Given the description of an element on the screen output the (x, y) to click on. 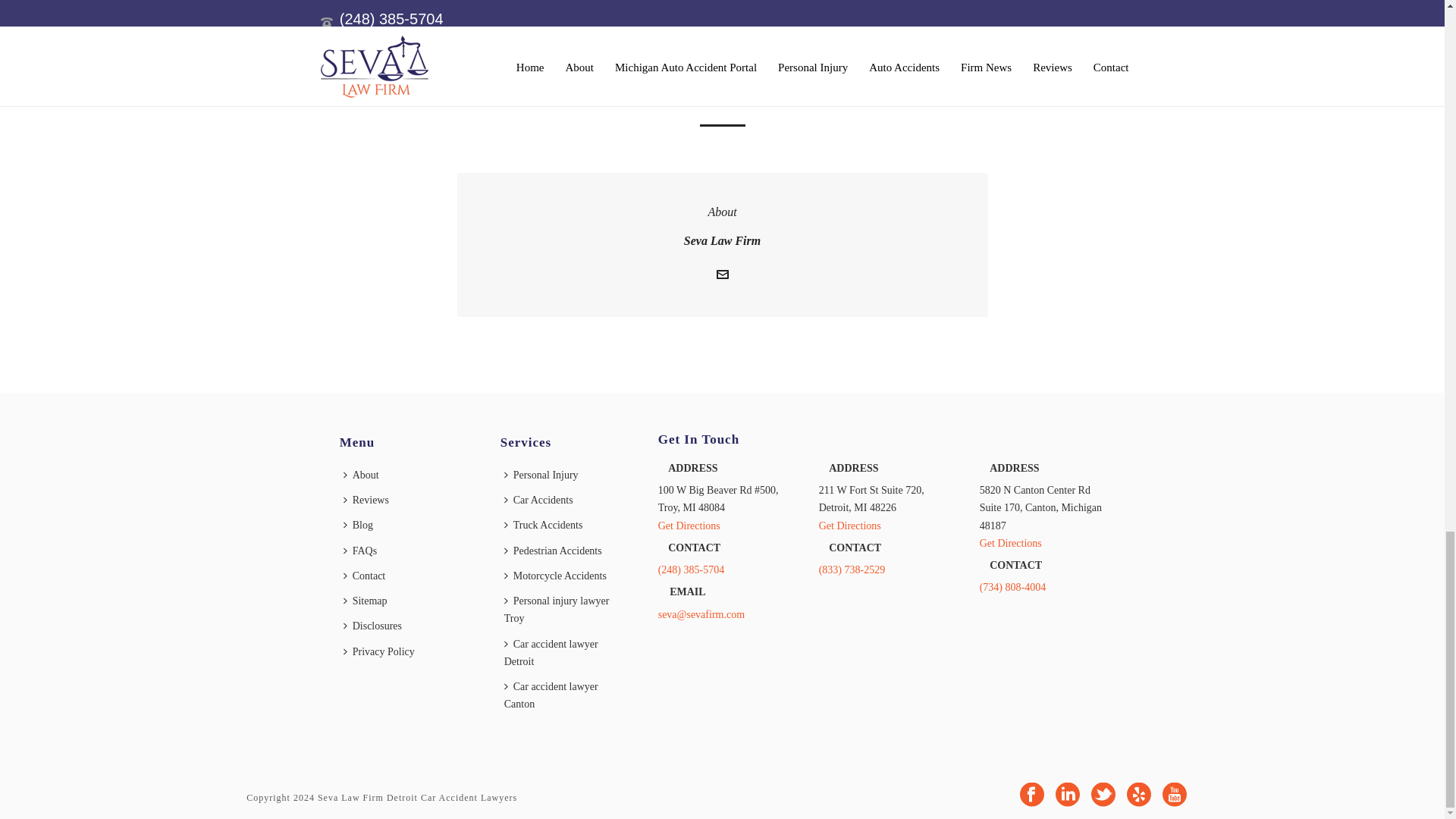
Get in touch with me via email (722, 276)
 yelp (1138, 795)
 youtube (1173, 795)
 linkedin (1067, 795)
Print (625, 66)
 facebook (1031, 795)
 twitter (1102, 795)
